Given the description of an element on the screen output the (x, y) to click on. 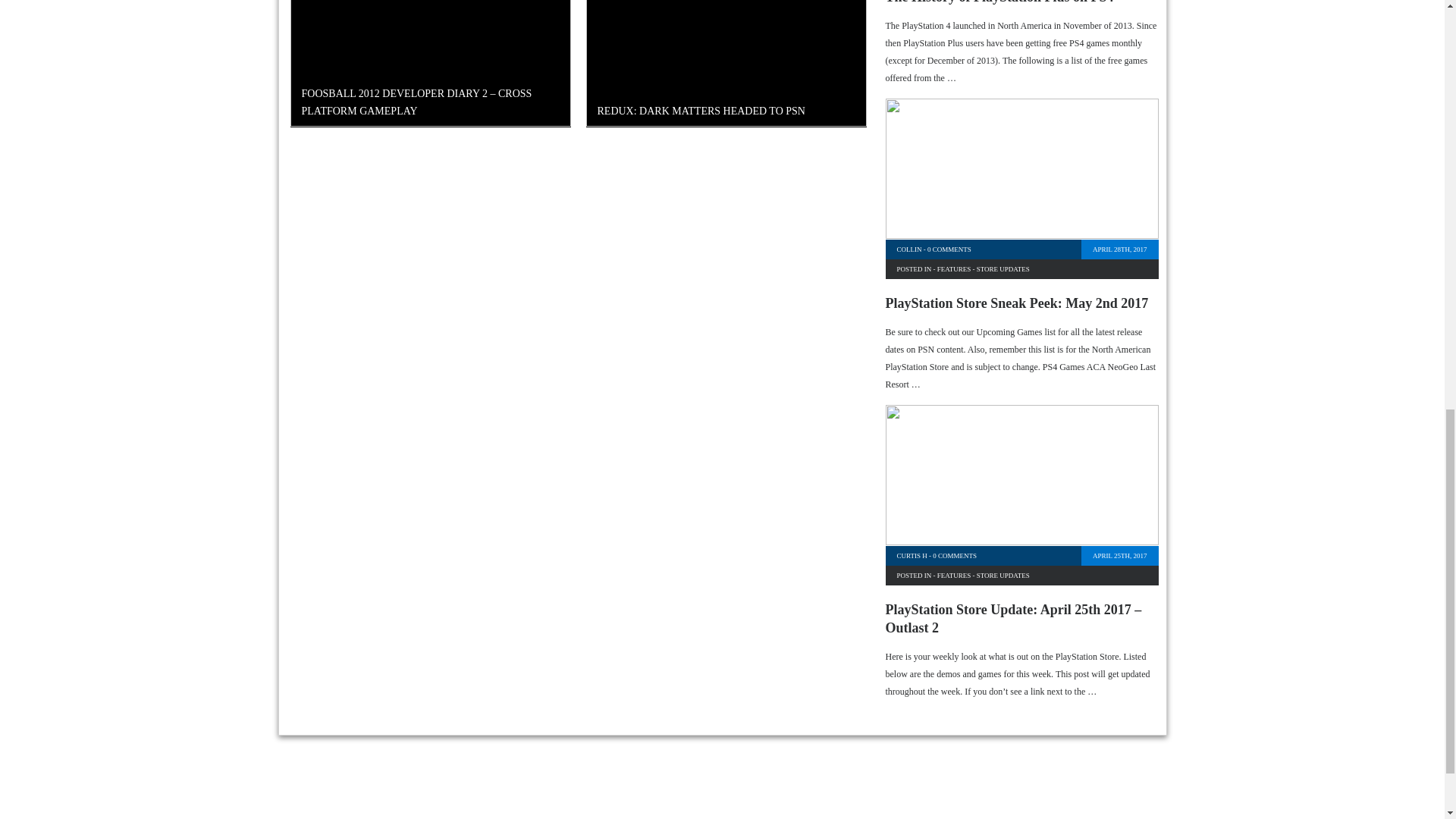
Posts by Collin (908, 249)
Posts by Curtis H (911, 555)
